Given the description of an element on the screen output the (x, y) to click on. 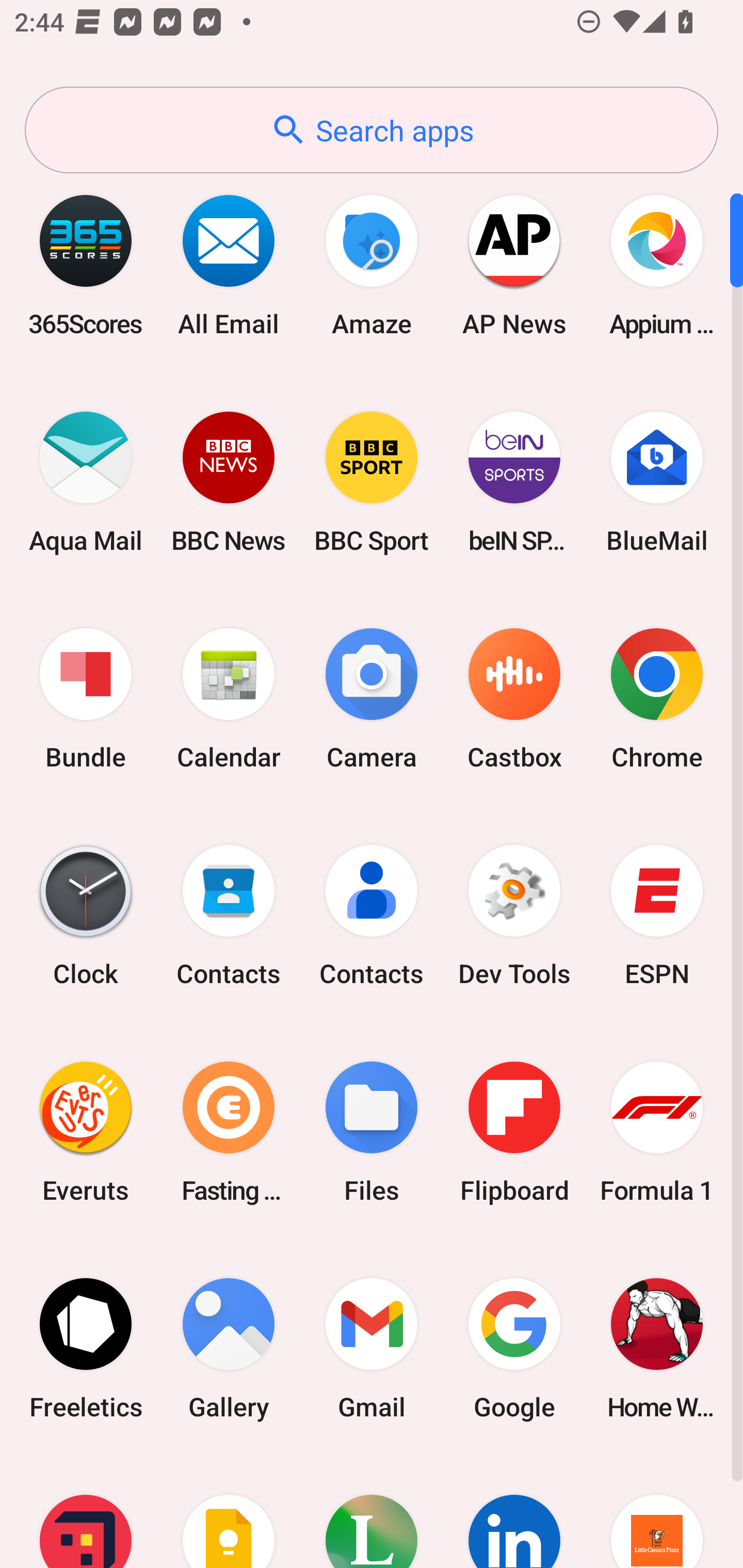
  Search apps (371, 130)
365Scores (85, 264)
All Email (228, 264)
Amaze (371, 264)
AP News (514, 264)
Appium Settings (656, 264)
Aqua Mail (85, 482)
BBC News (228, 482)
BBC Sport (371, 482)
beIN SPORTS (514, 482)
BlueMail (656, 482)
Bundle (85, 699)
Calendar (228, 699)
Camera (371, 699)
Castbox (514, 699)
Chrome (656, 699)
Clock (85, 915)
Contacts (228, 915)
Contacts (371, 915)
Dev Tools (514, 915)
ESPN (656, 915)
Everuts (85, 1131)
Fasting Coach (228, 1131)
Files (371, 1131)
Flipboard (514, 1131)
Formula 1 (656, 1131)
Freeletics (85, 1348)
Gallery (228, 1348)
Gmail (371, 1348)
Google (514, 1348)
Home Workout (656, 1348)
Hotels.com (85, 1512)
Keep Notes (228, 1512)
Lifesum (371, 1512)
LinkedIn (514, 1512)
Little Caesars Pizza (656, 1512)
